Given the description of an element on the screen output the (x, y) to click on. 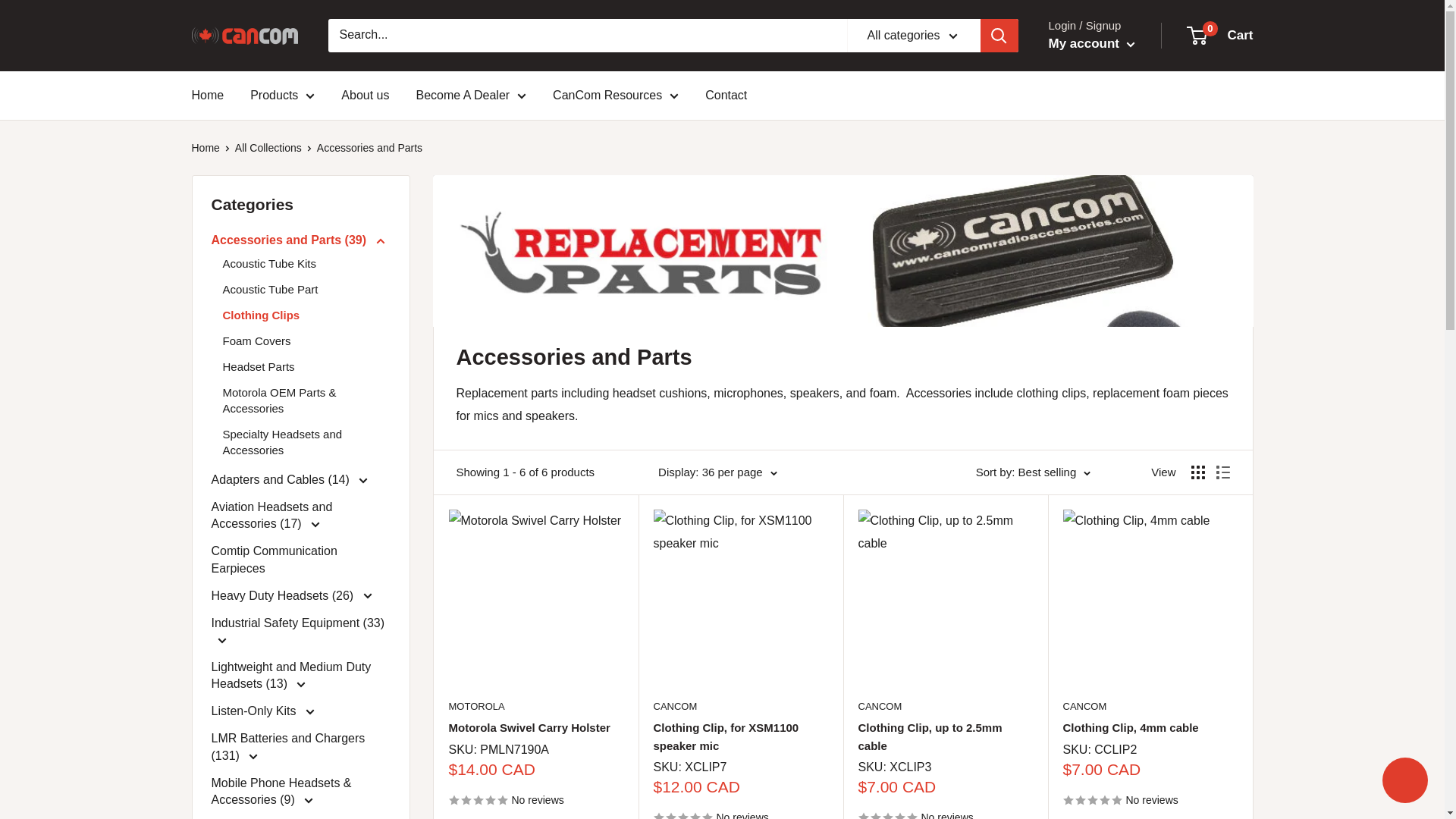
My account (1091, 43)
CanCom Radio Accessories (243, 35)
Shopify online store chat (1404, 781)
